Given the description of an element on the screen output the (x, y) to click on. 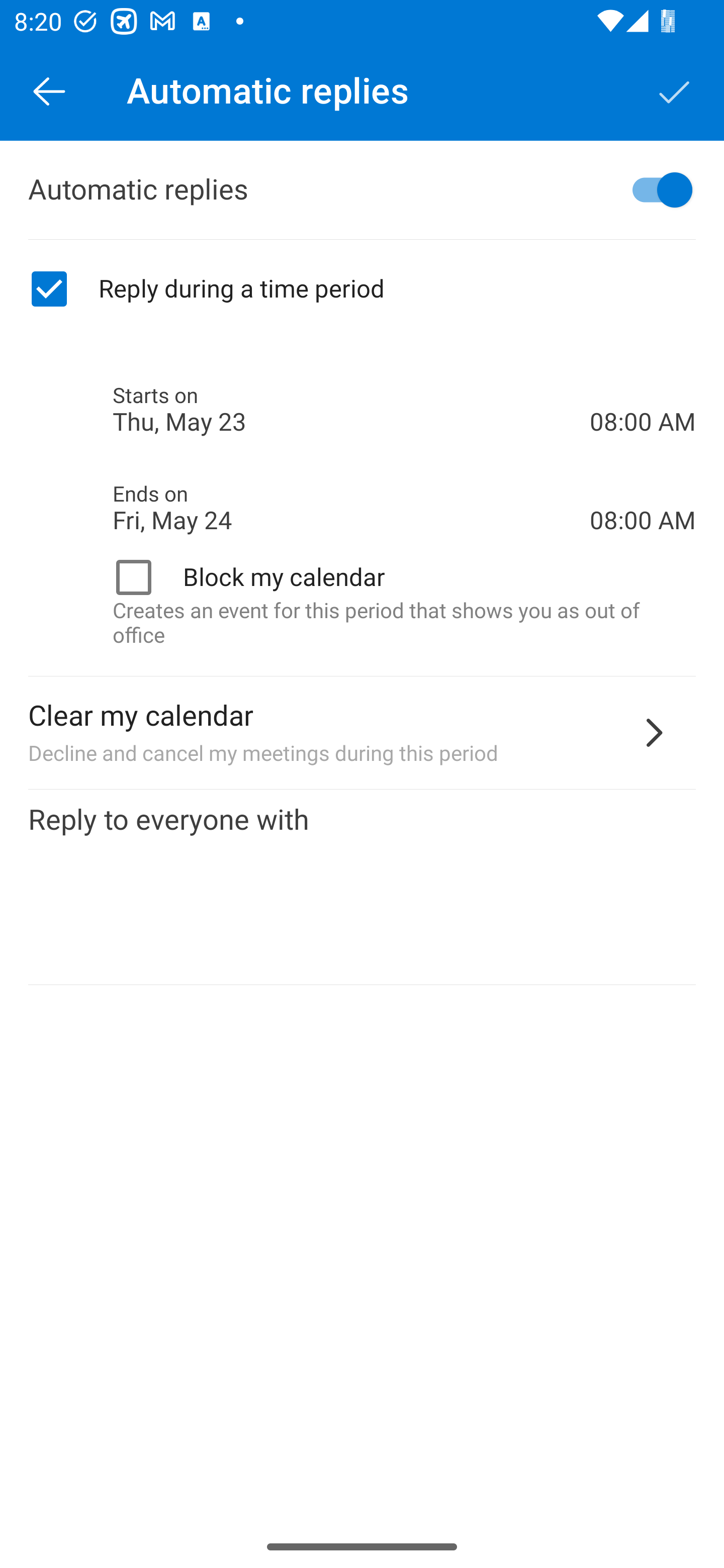
Back (49, 90)
Save (674, 90)
Automatic replies (362, 190)
Reply during a time period (362, 288)
08:00 AM (642, 387)
Starts on Thu, May 23 (351, 409)
08:00 AM (642, 485)
Ends on Fri, May 24 (351, 507)
Reply to everyone with Edit box 
 (361, 887)
